Given the description of an element on the screen output the (x, y) to click on. 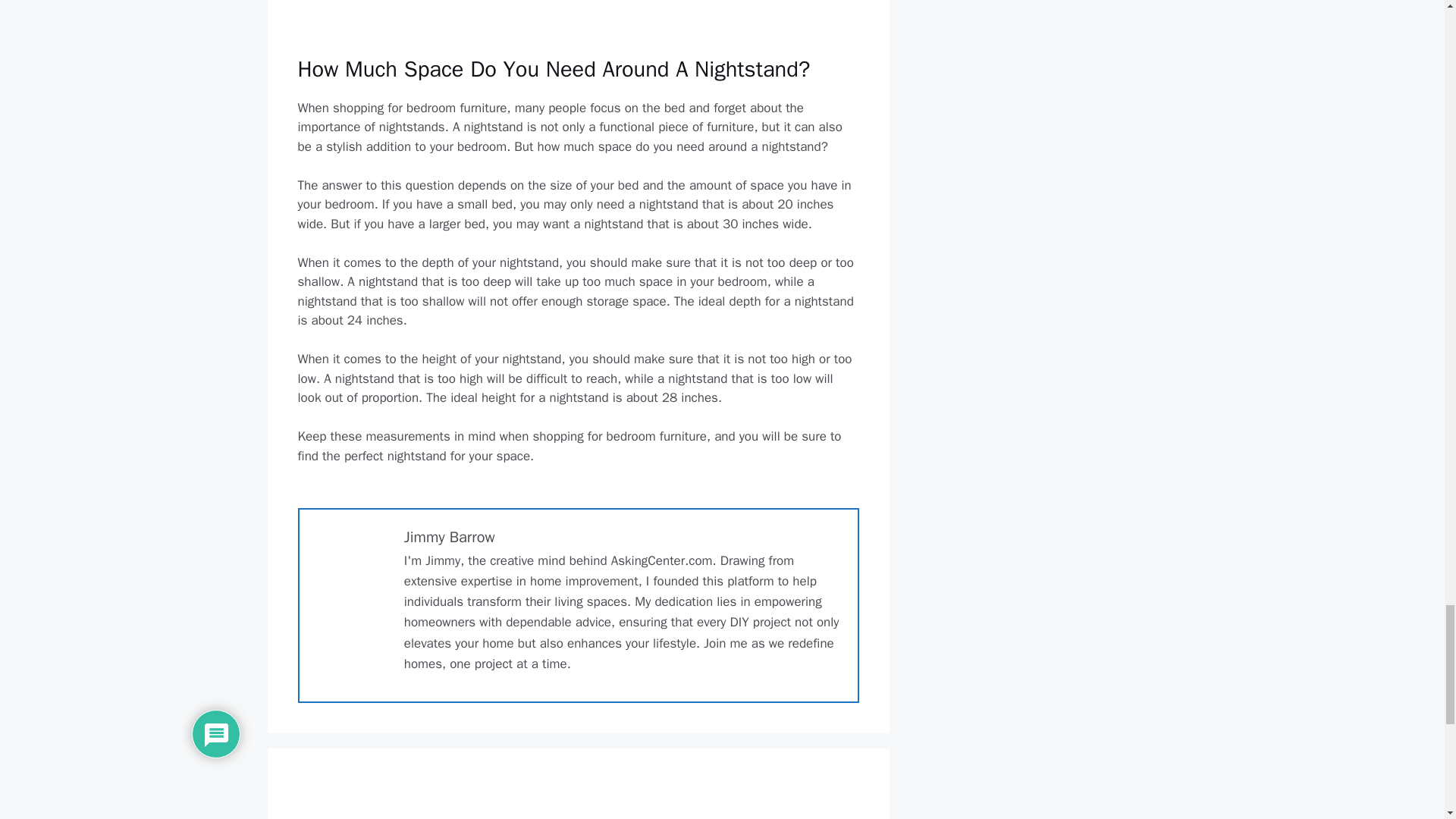
How to Organize Your Nightstand or Bedside Table (578, 17)
